Given the description of an element on the screen output the (x, y) to click on. 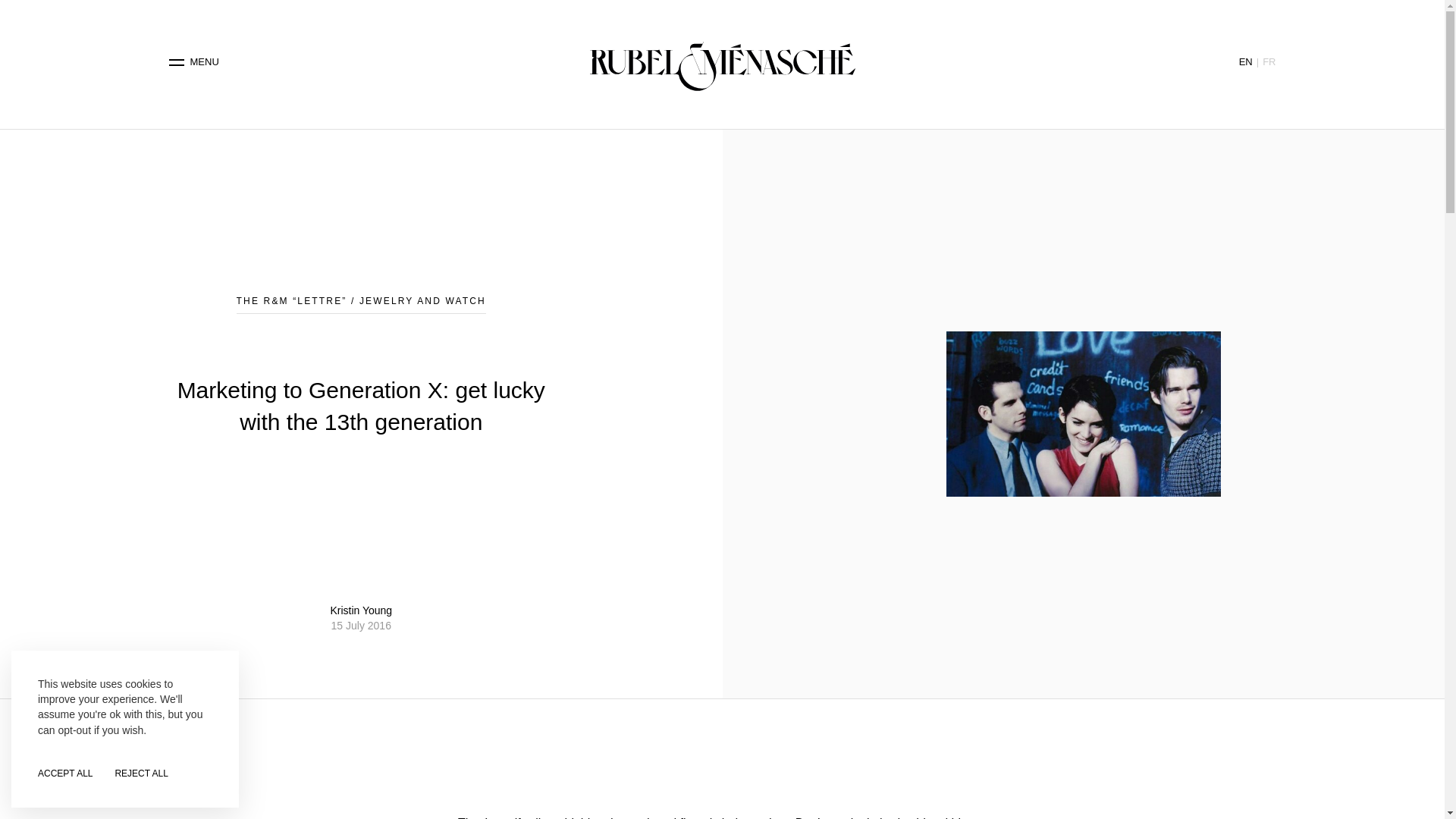
REJECT ALL (141, 773)
MENU (194, 61)
ACCEPT ALL (65, 773)
EN (1245, 61)
FR (1268, 61)
